Given the description of an element on the screen output the (x, y) to click on. 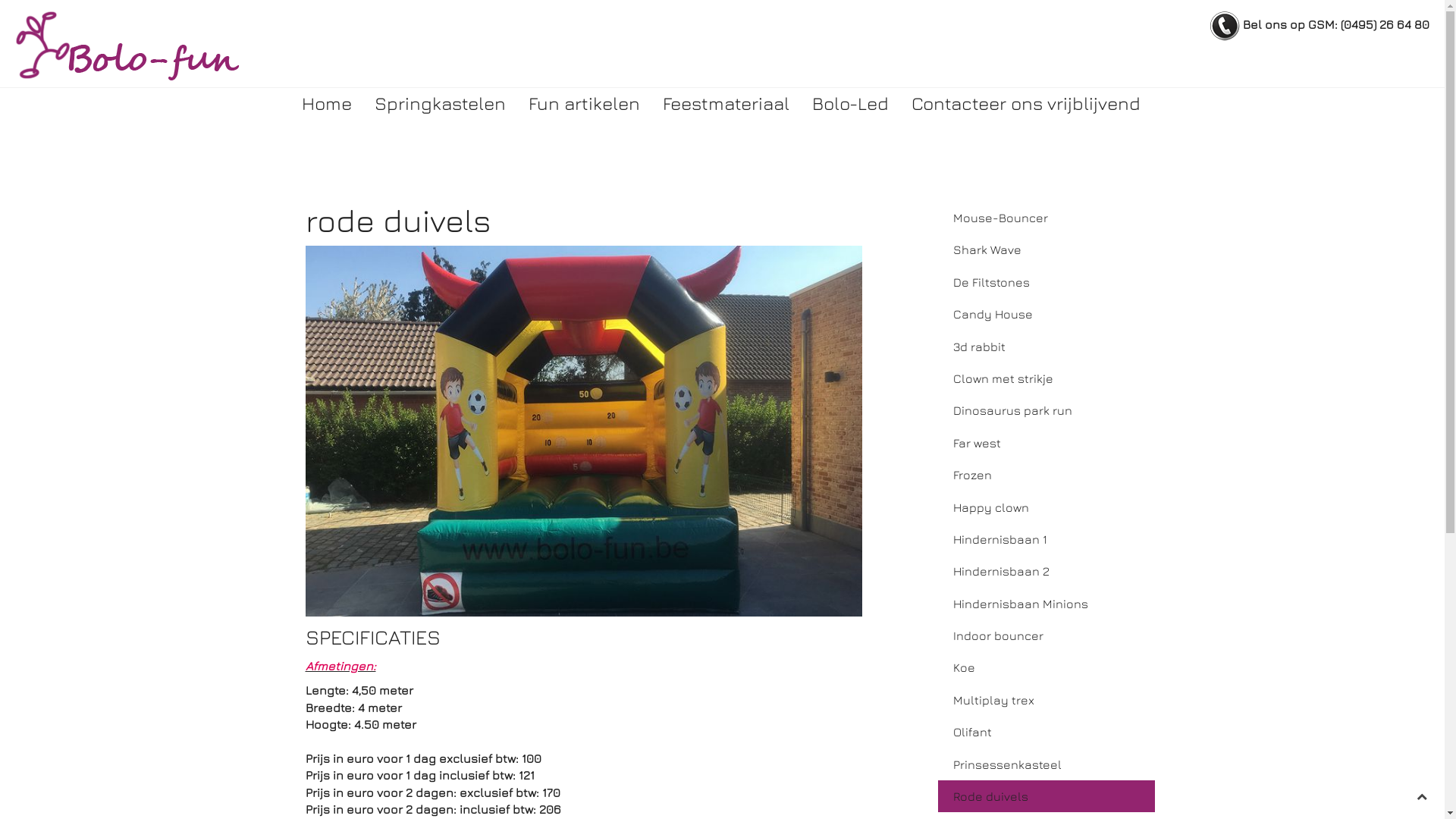
Multiplay trex Element type: text (1045, 699)
Olifant Element type: text (1045, 731)
Shark Wave Element type: text (1045, 249)
Springkastelen Element type: text (439, 102)
Mouse-Bouncer Element type: text (1045, 217)
Hindernisbaan Minions Element type: text (1045, 603)
Clown met strikje Element type: text (1045, 378)
Feestmateriaal Element type: text (725, 102)
Candy House Element type: text (1045, 313)
Home Element type: text (325, 102)
Hindernisbaan 2 Element type: text (1045, 570)
Frozen Element type: text (1045, 474)
Far west Element type: text (1045, 442)
Indoor bouncer Element type: text (1045, 635)
Hindernisbaan 1 Element type: text (1045, 539)
Dinosaurus park run Element type: text (1045, 410)
3d rabbit Element type: text (1045, 346)
Bolo-Led Element type: text (850, 102)
Rode duivels Element type: text (1045, 796)
De Filtstones Element type: text (1045, 282)
Contacteer ons vrijblijvend Element type: text (1025, 102)
Prinsessenkasteel Element type: text (1045, 764)
Happy clown Element type: text (1045, 507)
Fun artikelen Element type: text (584, 102)
Koe Element type: text (1045, 667)
